Given the description of an element on the screen output the (x, y) to click on. 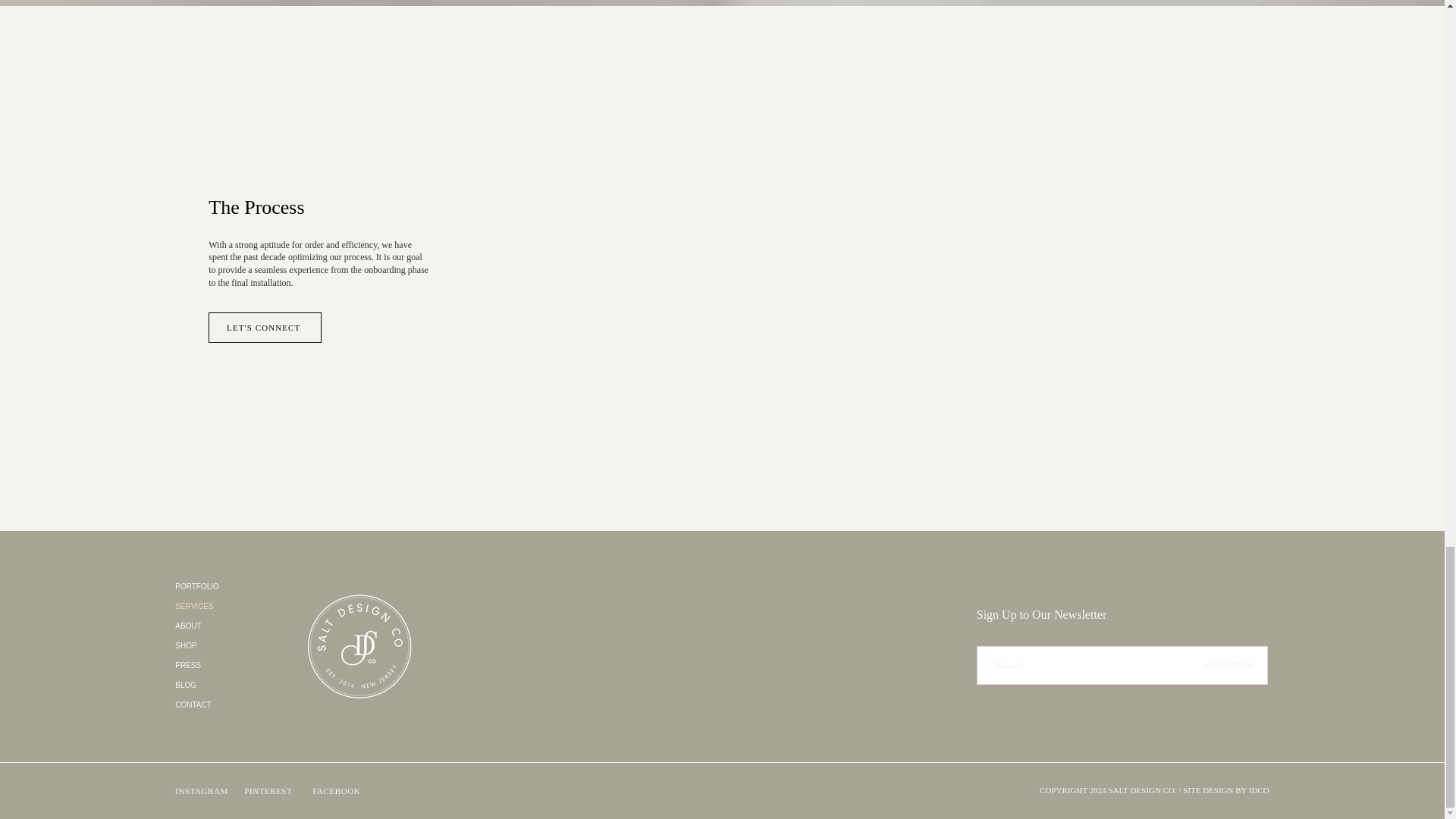
ABOUT (217, 626)
SERVICES (217, 606)
PORTFOLIO (217, 587)
SUBSCRIBE (1228, 665)
BLOG (217, 685)
IDCO (1259, 789)
CONTACT (217, 704)
SHOP (217, 646)
PINTEREST (272, 790)
LET'S CONNECT (264, 327)
FACEBOOK (341, 790)
INSTAGRAM (202, 790)
PRESS (217, 665)
